Given the description of an element on the screen output the (x, y) to click on. 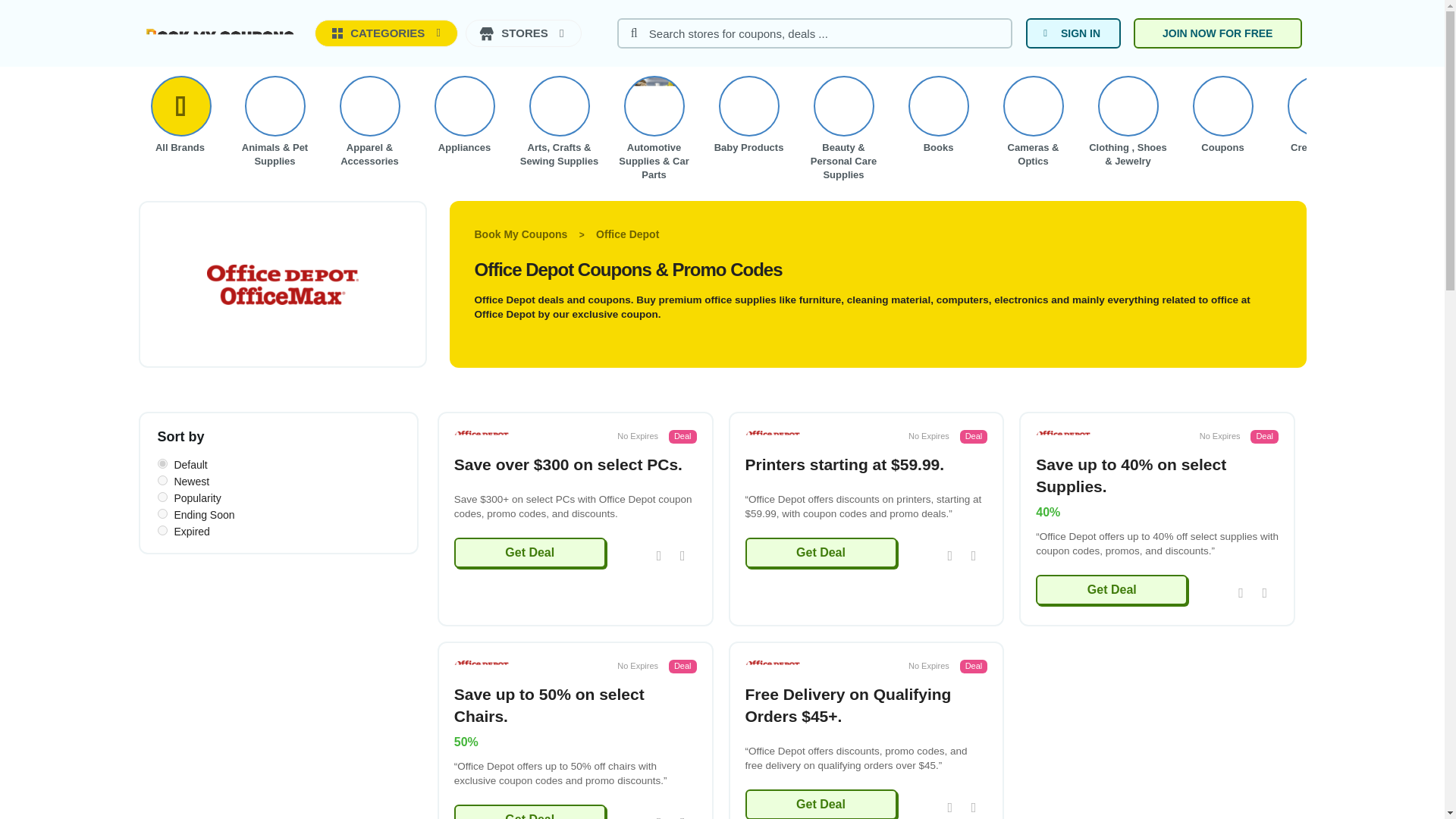
Credit Card (1316, 106)
Baby Products (748, 106)
Appliances (464, 106)
newest (162, 480)
Coupons (1222, 106)
Book My Coupons (219, 34)
expired (162, 530)
popularity (162, 497)
Books (937, 106)
Go to Book My Coupons. (523, 234)
default (162, 463)
JOIN NOW FOR FREE (1217, 33)
SIGN IN (1073, 33)
ending-soon (162, 513)
All Brands (179, 106)
